Given the description of an element on the screen output the (x, y) to click on. 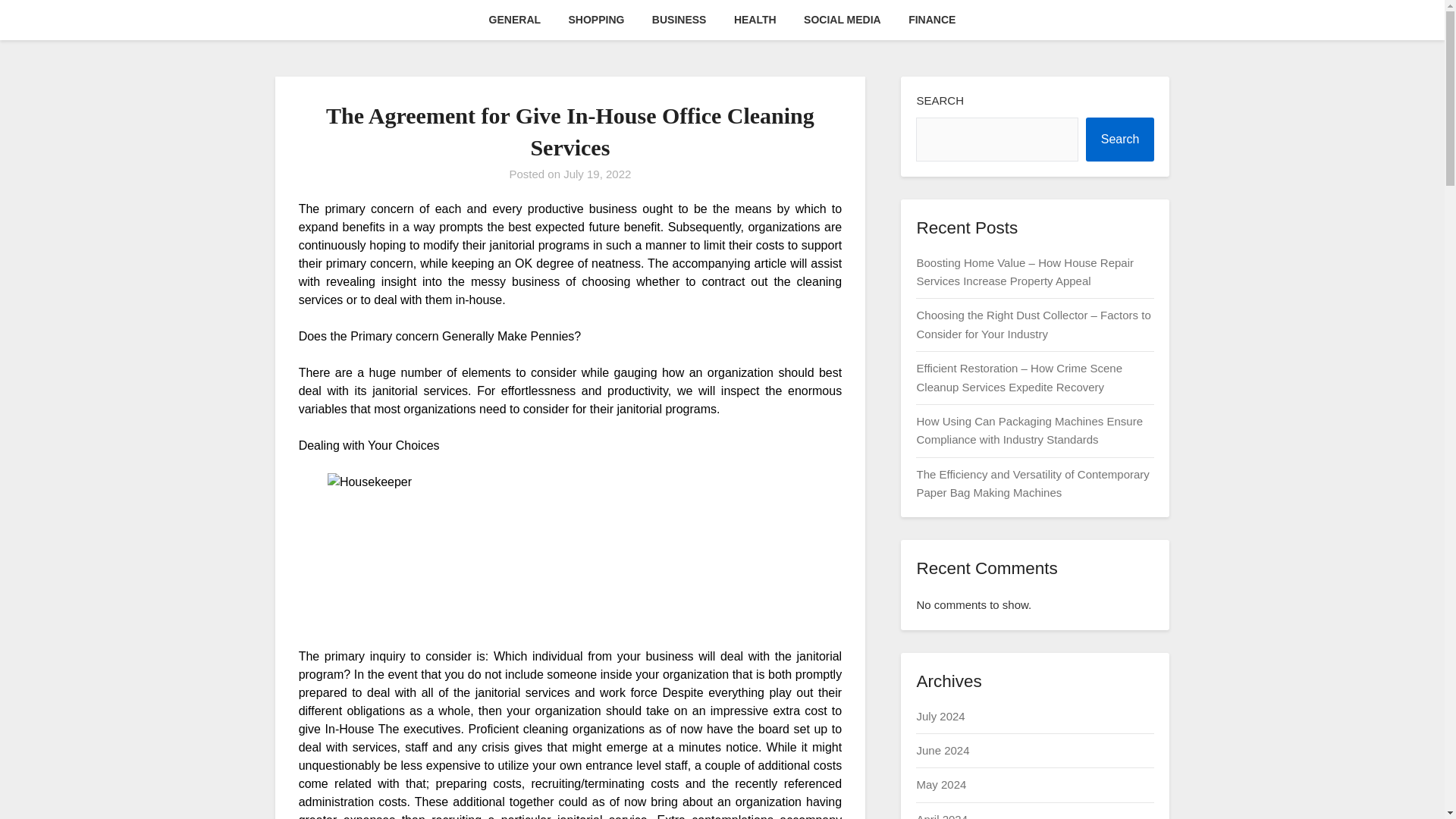
FINANCE (932, 20)
HEALTH (755, 20)
BUSINESS (679, 20)
June 2024 (942, 749)
July 19, 2022 (596, 173)
April 2024 (941, 816)
May 2024 (940, 784)
SHOPPING (596, 20)
July 2024 (939, 716)
Search (1120, 139)
GENERAL (515, 20)
SOCIAL MEDIA (842, 20)
